Given the description of an element on the screen output the (x, y) to click on. 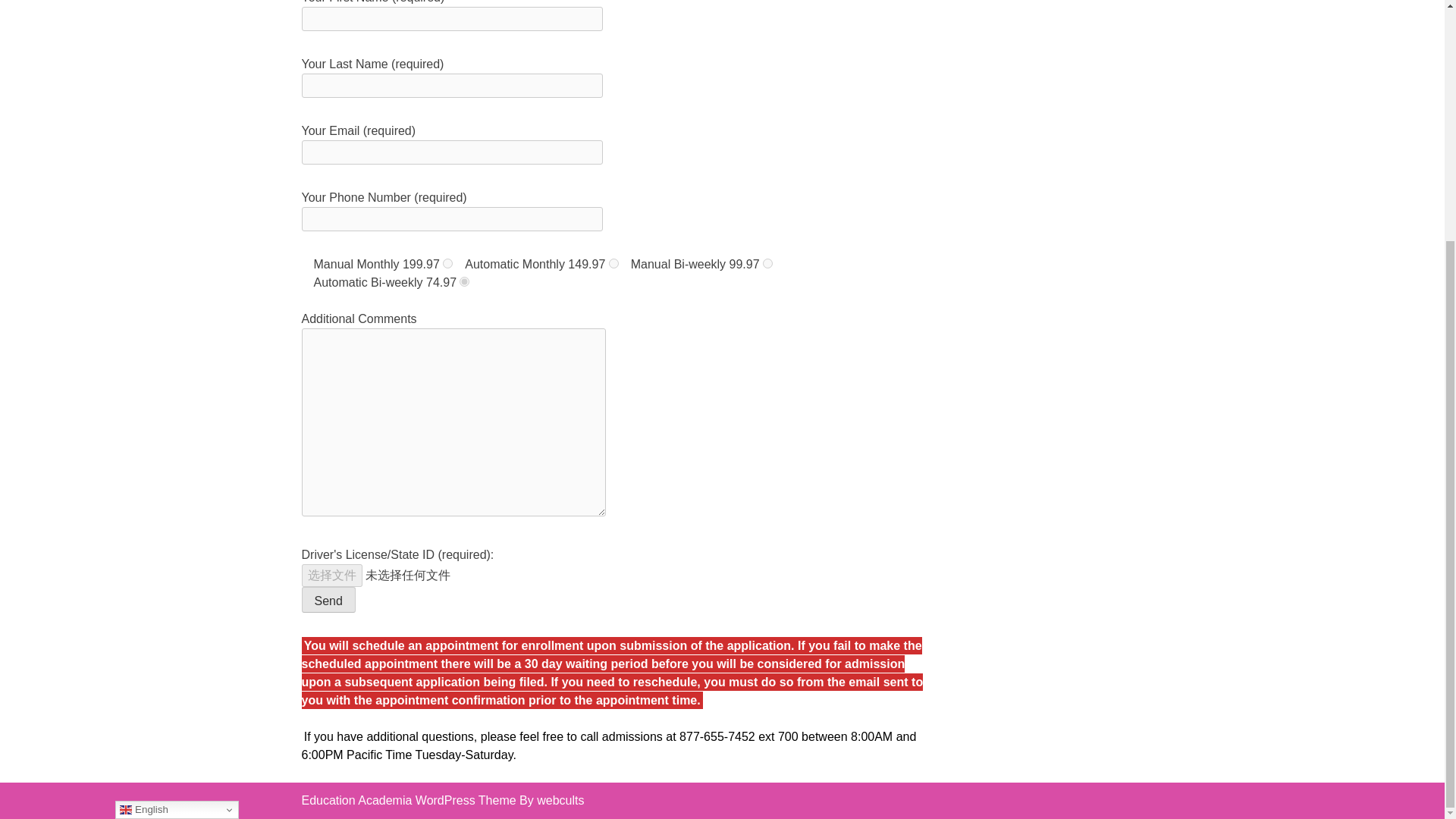
Send (328, 599)
Manual Bi-weekly 99.97 (767, 263)
Manual Monthly 199.97 (447, 263)
Automatic Monthly 149.97 (613, 263)
Send (328, 599)
Automatic Bi-weekly 74.97 (464, 281)
